Given the description of an element on the screen output the (x, y) to click on. 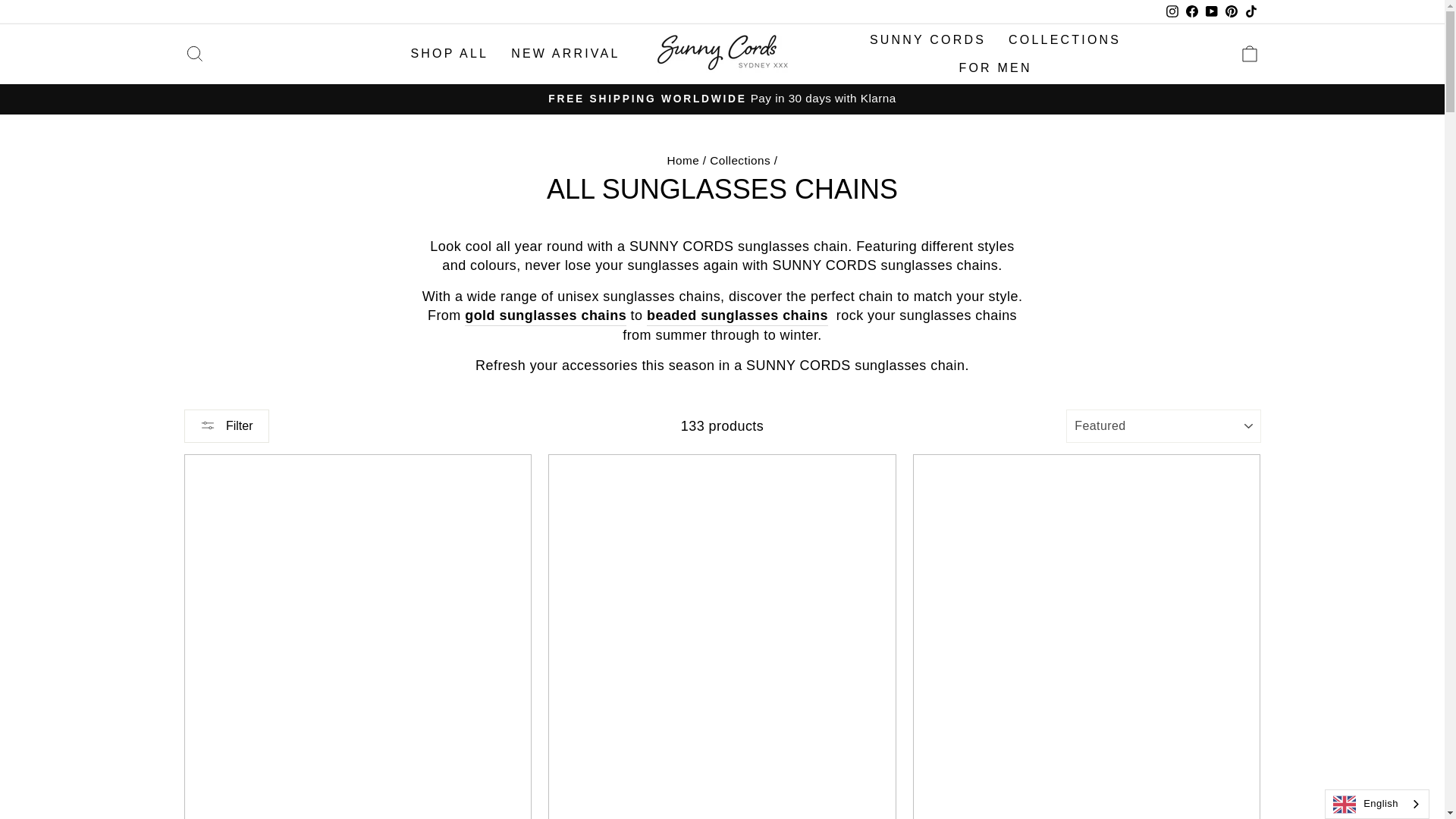
gold sunglasses chains (545, 315)
NEW ARRIVAL (564, 53)
Back to the frontpage (683, 160)
SEARCH (194, 53)
SUNNY CORDS (928, 39)
SHOP ALL (448, 53)
beaded sunglasses chains (737, 315)
